Given the description of an element on the screen output the (x, y) to click on. 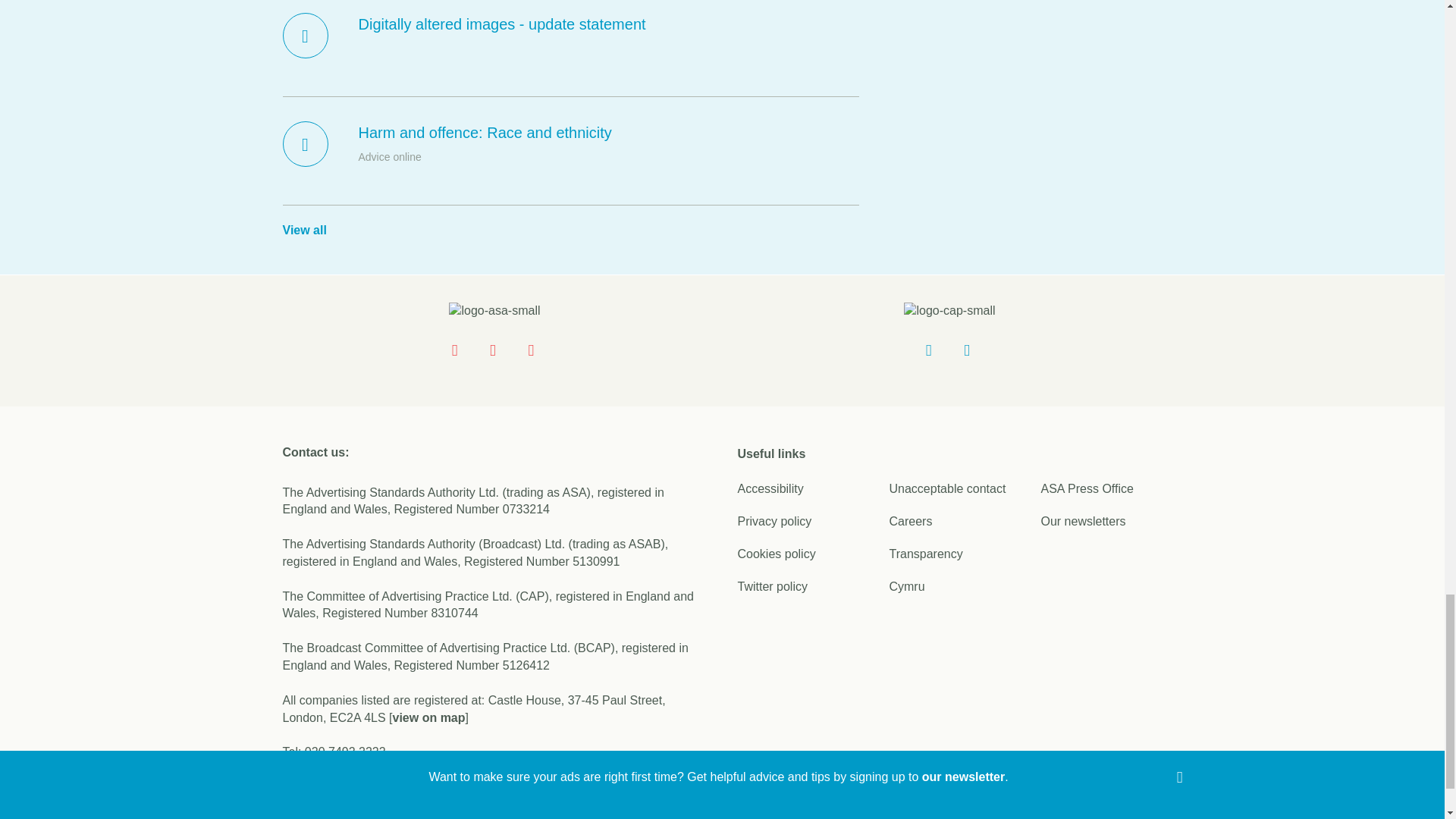
Careers (909, 521)
Privacy policy (773, 521)
Transparency (925, 553)
Accessibility (769, 488)
Cookies policy (775, 553)
Our newsletters (1083, 521)
